Given the description of an element on the screen output the (x, y) to click on. 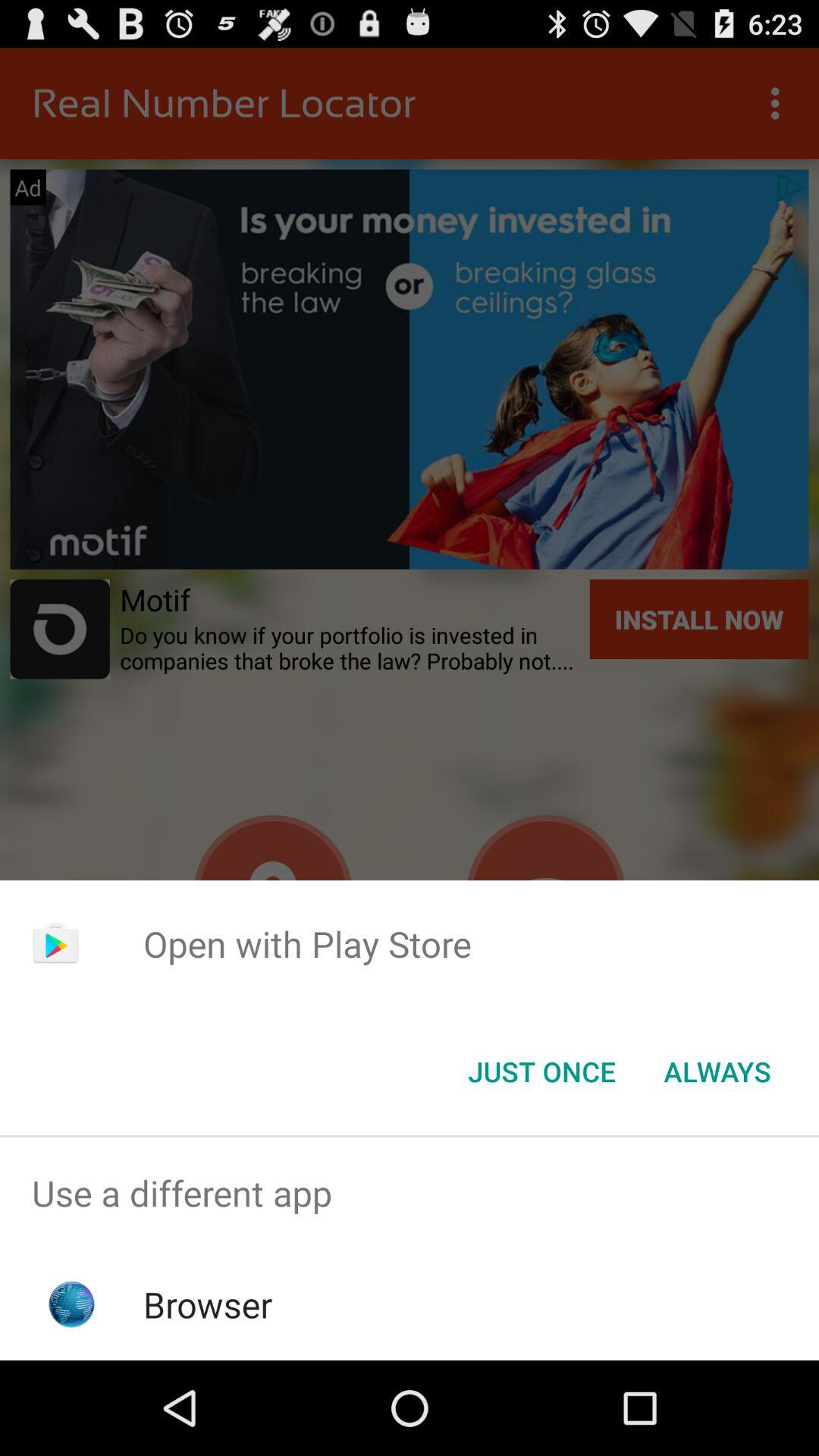
scroll to just once item (541, 1071)
